Given the description of an element on the screen output the (x, y) to click on. 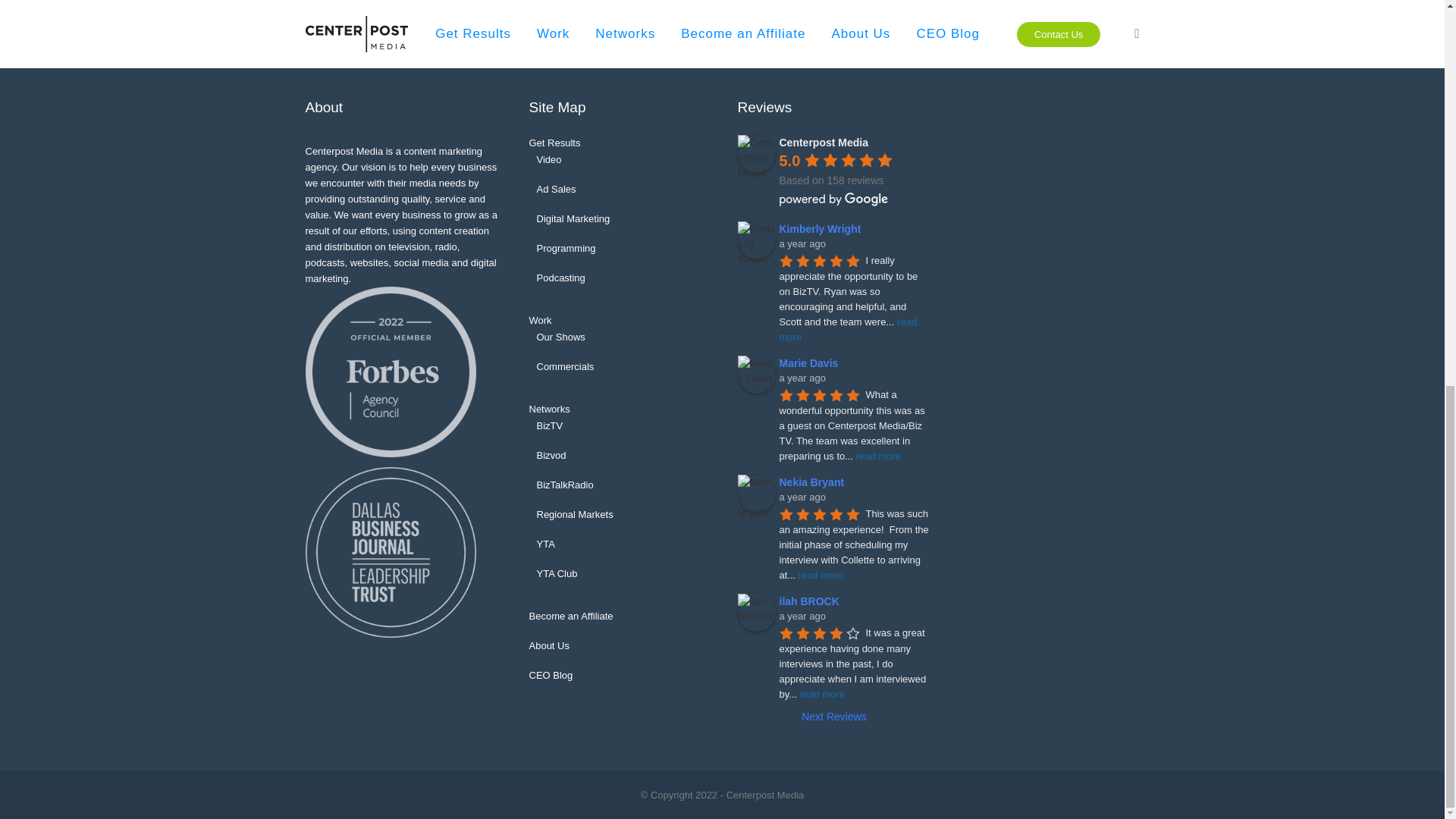
Marie Davis (755, 374)
ilah BROCK (755, 612)
powered by Google (833, 199)
Nekia Bryant (755, 493)
Centerpost Media (755, 153)
Kimberly Wright (755, 240)
